Given the description of an element on the screen output the (x, y) to click on. 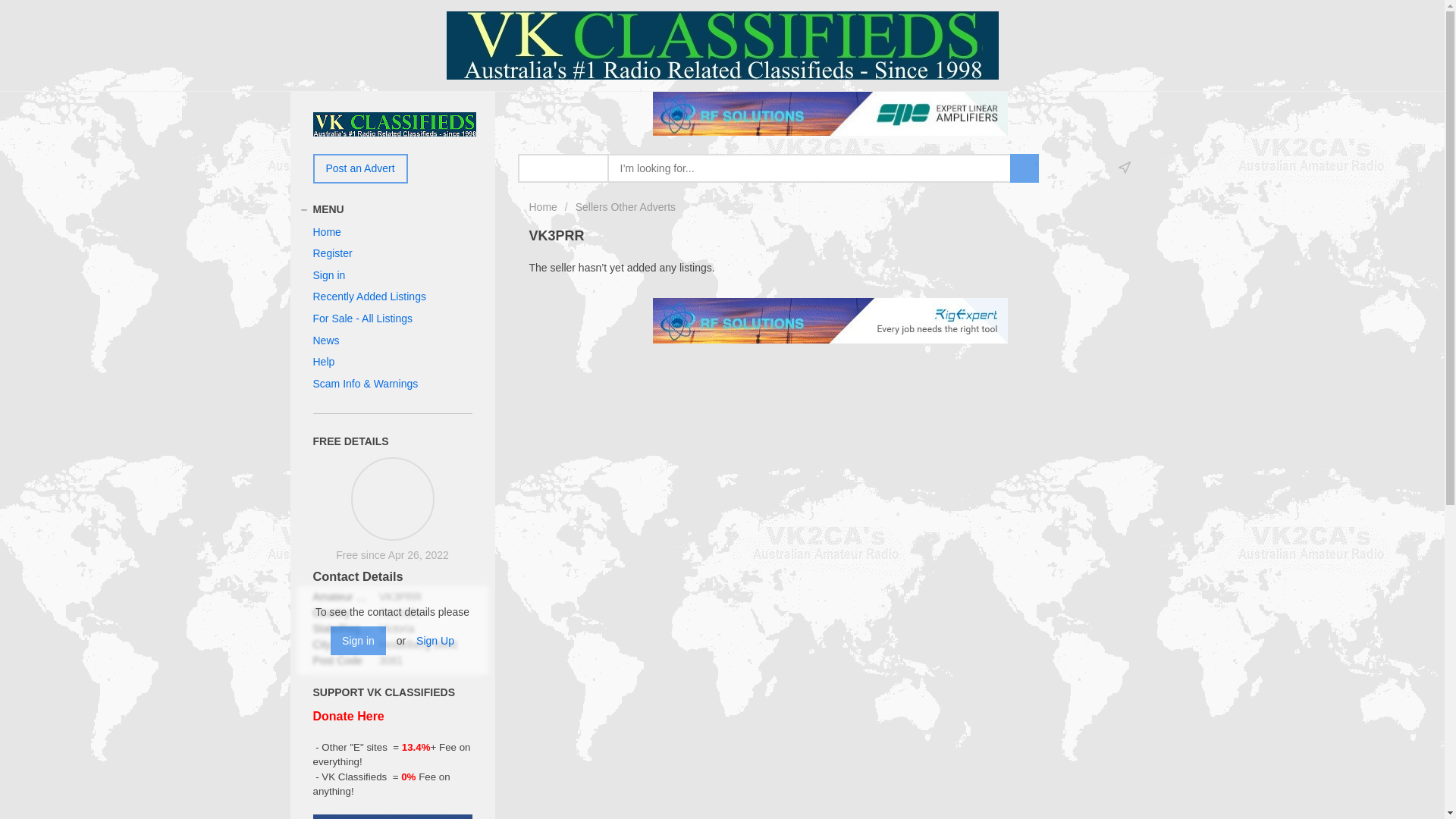
News Element type: text (325, 340)
For Sale - All Listings Element type: text (362, 318)
Post an Advert Element type: text (359, 168)
Home Element type: text (326, 231)
Scam Info & Warnings Element type: text (364, 383)
Vkclassifieds Element type: hover (393, 123)
Sellers Other Adverts Element type: text (625, 206)
Home Element type: text (543, 206)
Sign Up Element type: text (435, 640)
Donate Here Element type: text (347, 715)
Help Element type: text (323, 361)
Recently Added Listings Element type: text (368, 296)
Register Element type: text (331, 253)
Sign in Element type: text (357, 640)
Sign in Element type: text (328, 275)
